Given the description of an element on the screen output the (x, y) to click on. 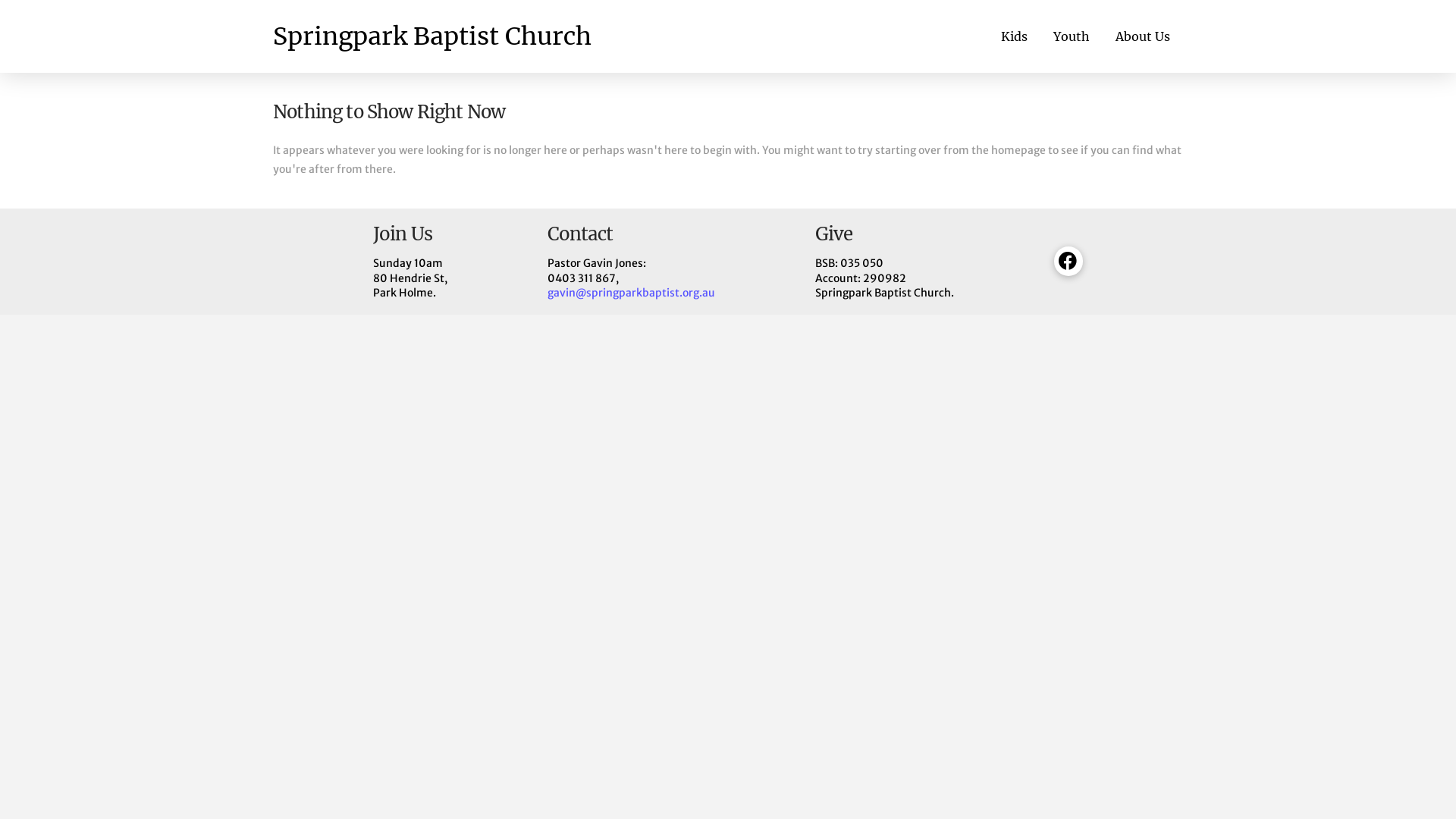
gavin@springparkbaptist.org.au Element type: text (631, 292)
Youth Element type: text (1071, 36)
Kids Element type: text (1014, 36)
About Us Element type: text (1142, 36)
Springpark Baptist Church Element type: text (432, 36)
